Given the description of an element on the screen output the (x, y) to click on. 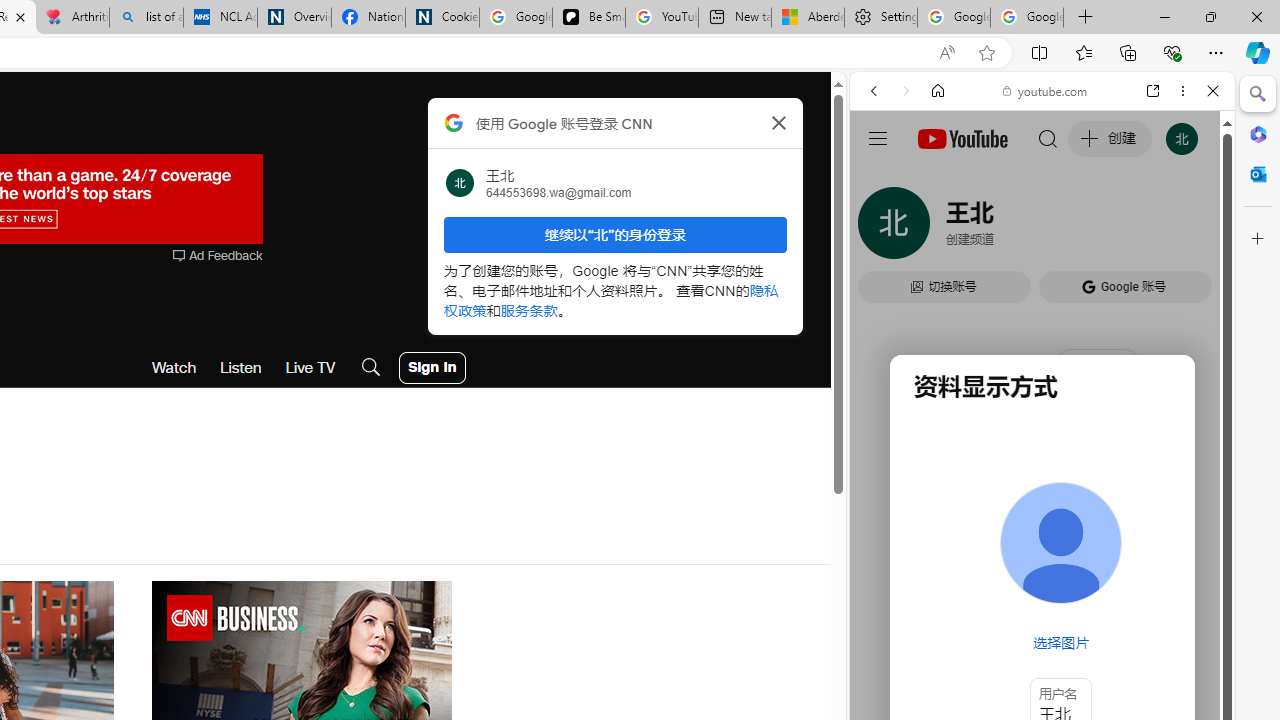
Trailer #2 [HD] (1042, 592)
youtube.com (1046, 90)
WEB   (882, 228)
Listen (241, 367)
